Given the description of an element on the screen output the (x, y) to click on. 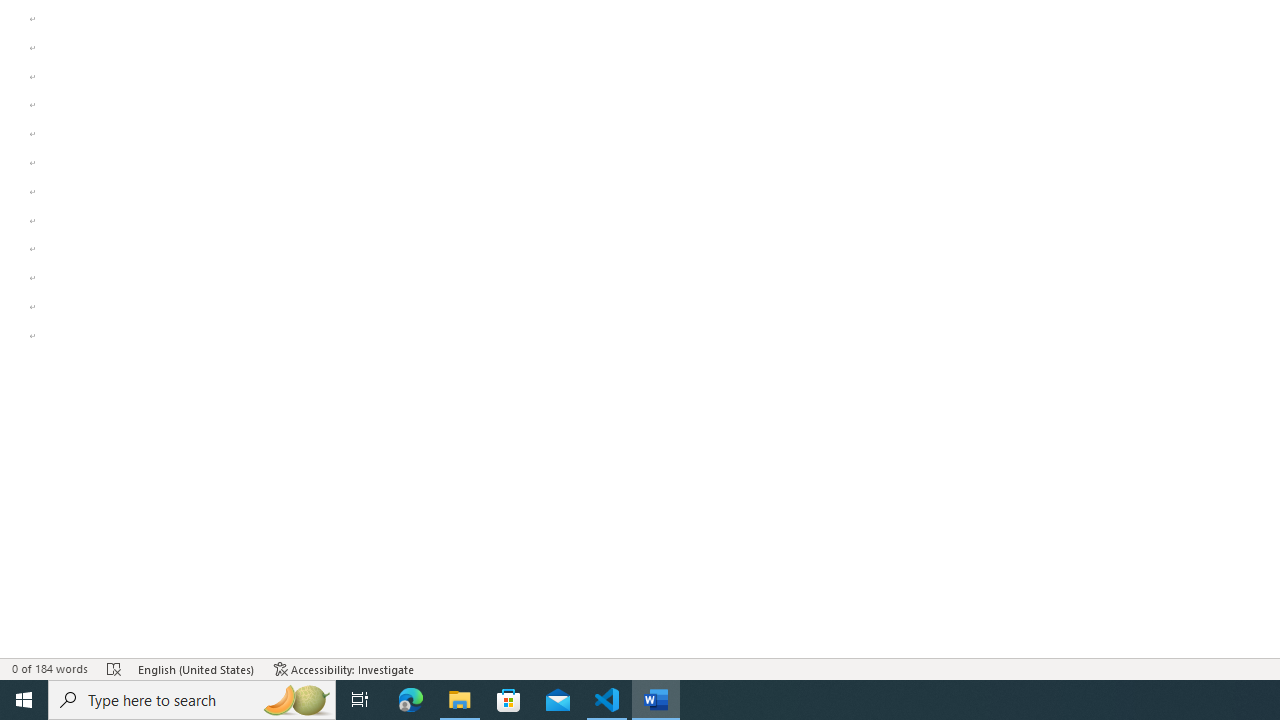
Language English (United States) (196, 668)
Search highlights icon opens search home window (295, 699)
Word Count 0 of 184 words (49, 668)
Visual Studio Code - 1 running window (607, 699)
File Explorer - 1 running window (460, 699)
Microsoft Edge (411, 699)
Microsoft Store (509, 699)
Task View (359, 699)
Spelling and Grammar Check Errors (114, 668)
Type here to search (191, 699)
Start (24, 699)
Word - 1 running window (656, 699)
Accessibility Checker Accessibility: Investigate (344, 668)
